Given the description of an element on the screen output the (x, y) to click on. 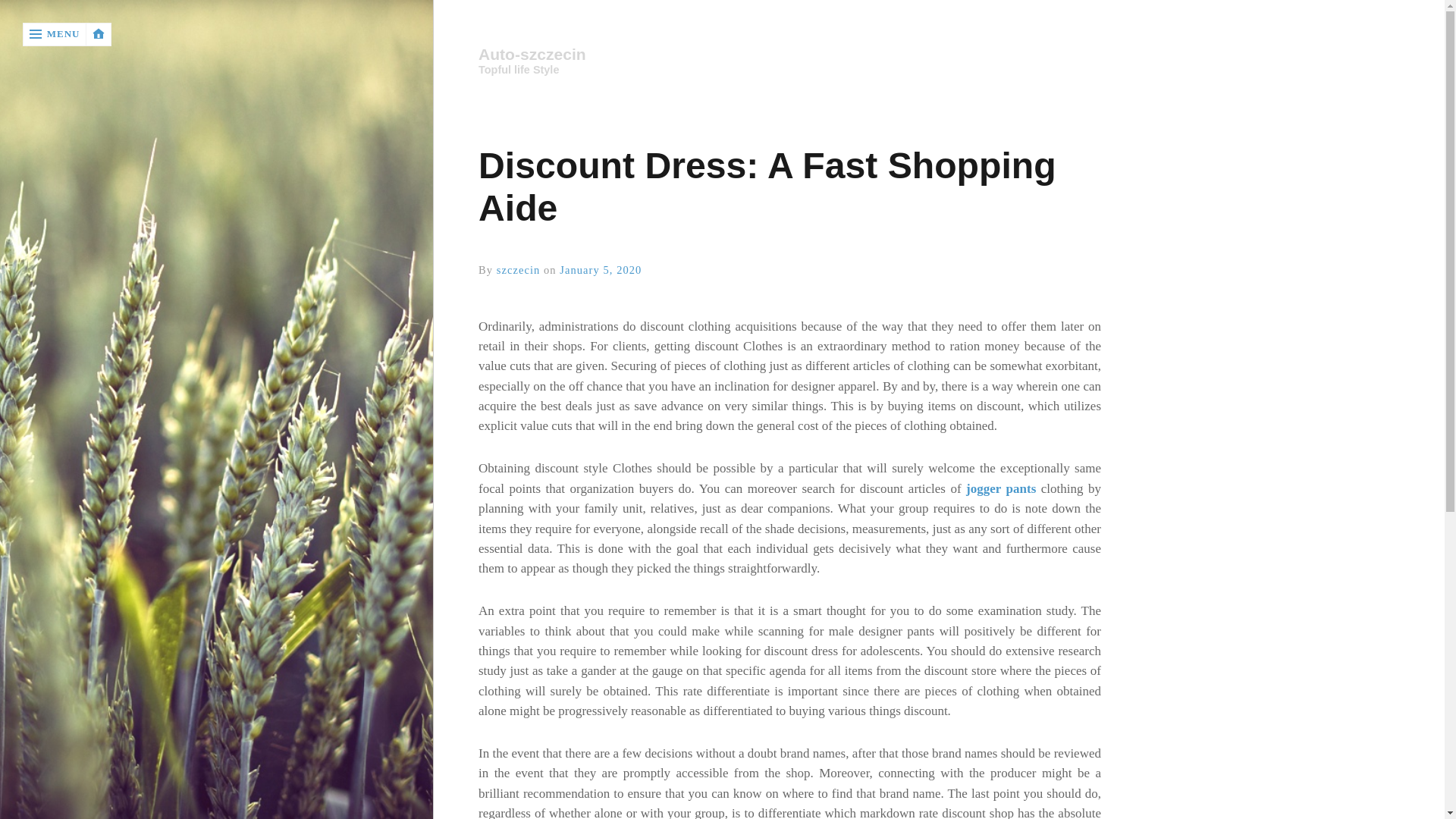
January 5, 2020 (600, 269)
Home (788, 54)
szczecin (518, 269)
View all posts by szczecin (518, 269)
Auto-szczecin (781, 54)
9:47 am (600, 269)
jogger pants (1000, 488)
MENU (55, 33)
